Given the description of an element on the screen output the (x, y) to click on. 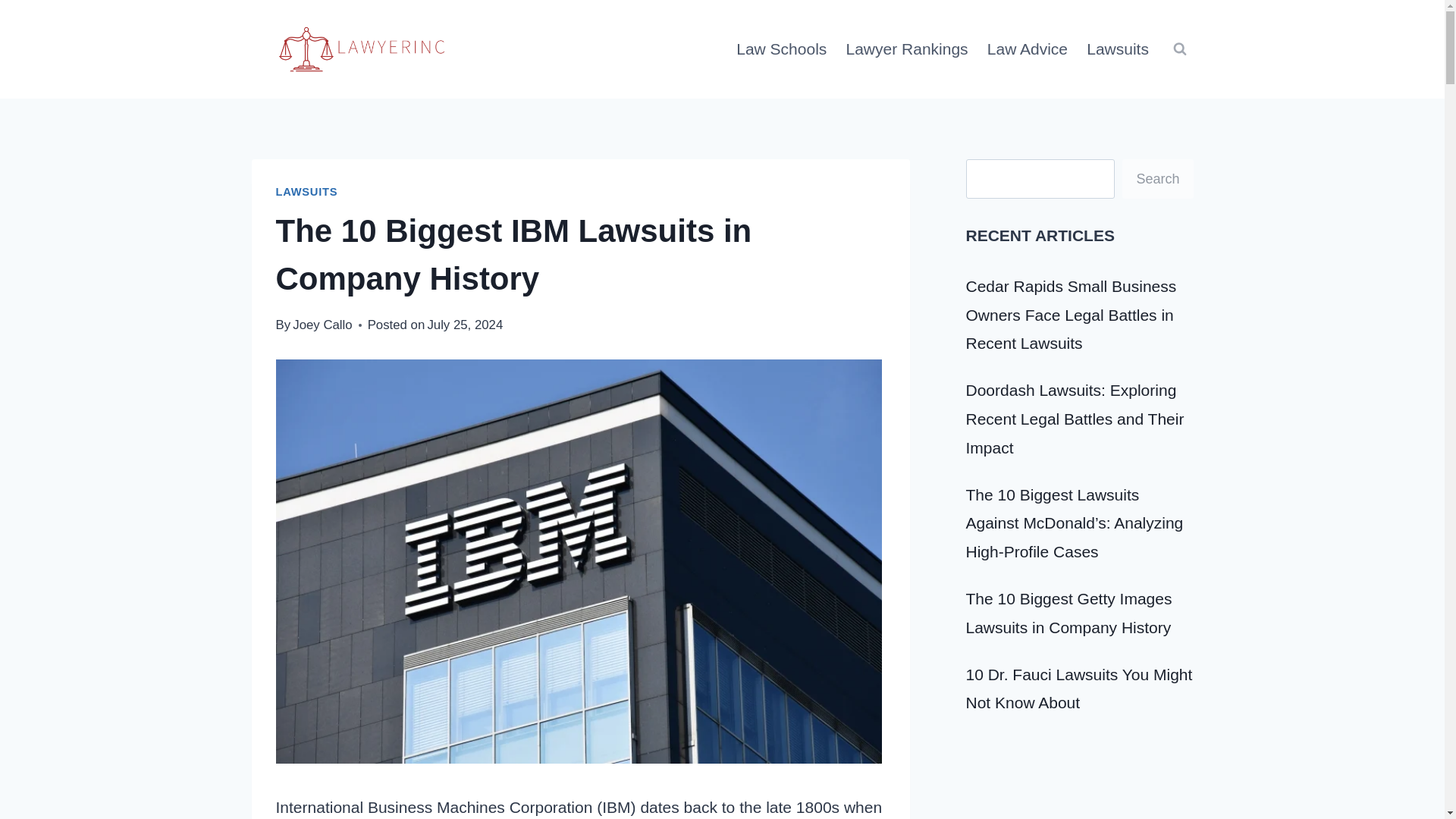
Joey Callo (322, 323)
Law Schools (780, 49)
Lawsuits (1117, 49)
Law Advice (1026, 49)
Lawyer Rankings (905, 49)
LAWSUITS (306, 191)
